Given the description of an element on the screen output the (x, y) to click on. 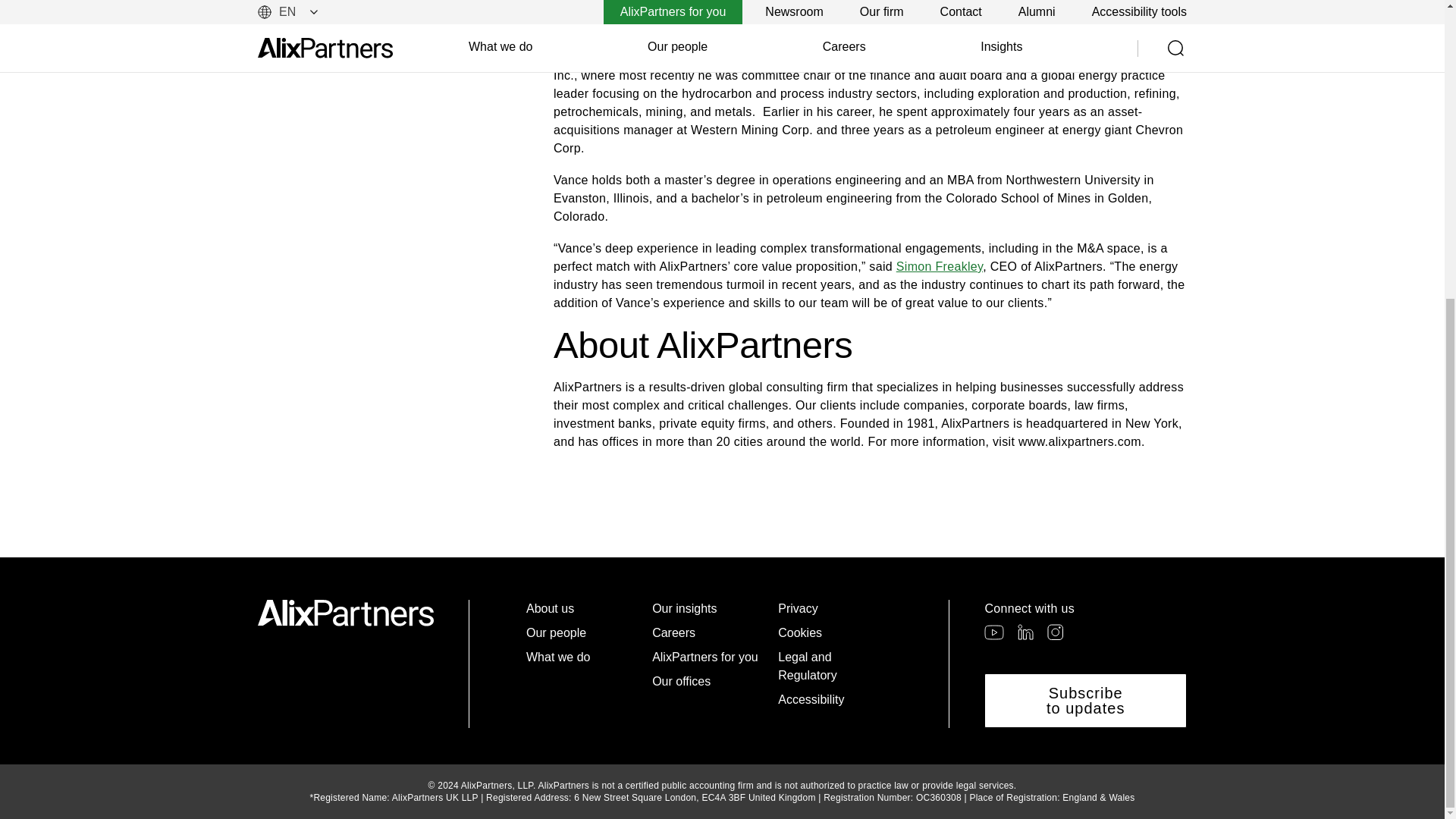
Our people (582, 633)
Privacy (834, 608)
Accessibility (834, 700)
Check out our LinkedIn fan page (1025, 631)
What we do (582, 657)
Check out our Instagram fan page (1054, 631)
Legal and Regulatory (834, 666)
Simon Freakley (939, 266)
Check out our YouTube channel (994, 631)
About us (582, 608)
